Given the description of an element on the screen output the (x, y) to click on. 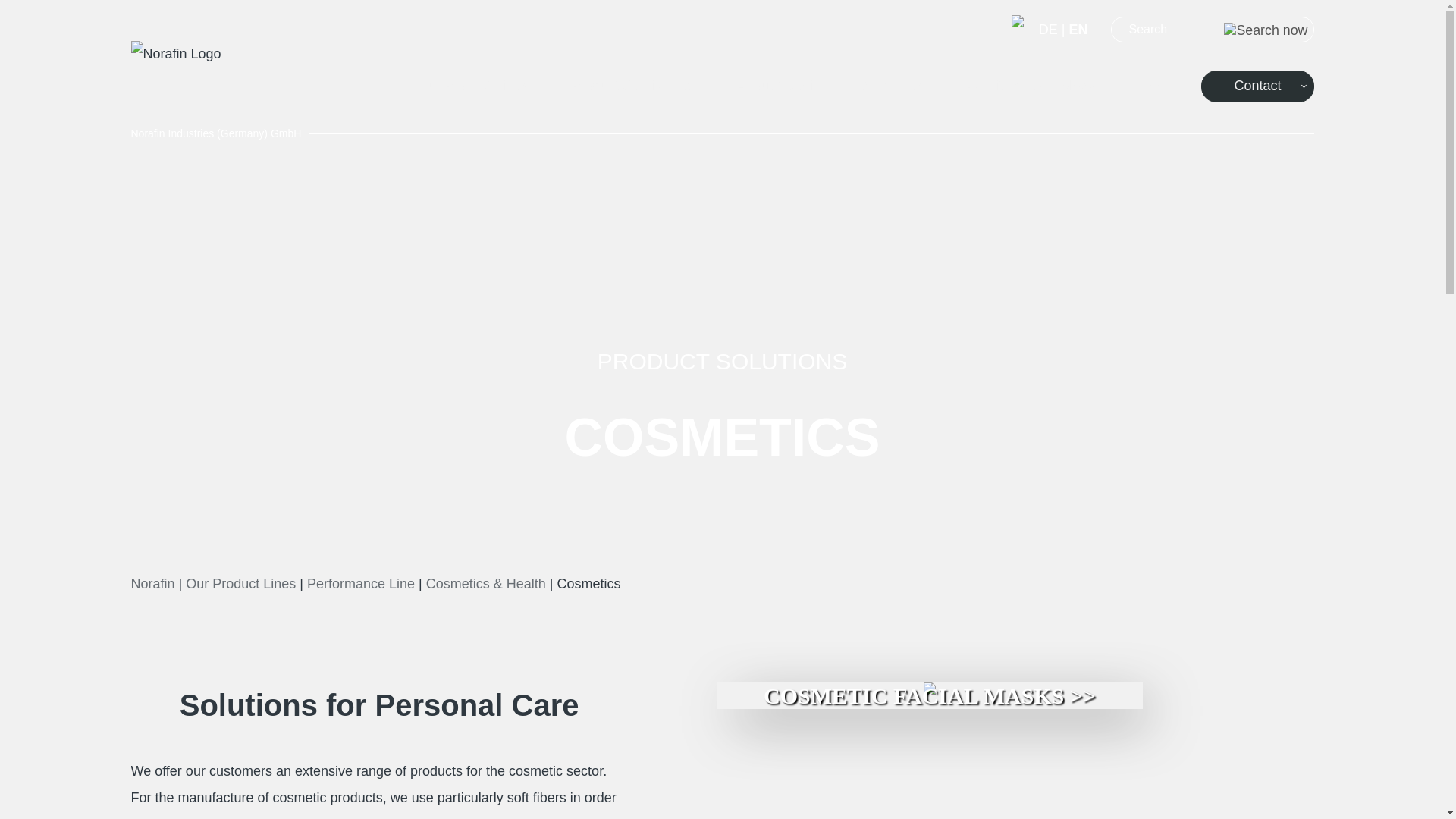
Our Product Lines (470, 93)
Go to home (176, 53)
DE (1048, 29)
Our Values (890, 93)
Nonwovens variety of functions (470, 93)
Product Finder (631, 93)
Search now (1265, 30)
About Norafin (777, 93)
Product Configurator (631, 93)
Wir sind Norafin (777, 93)
